Given the description of an element on the screen output the (x, y) to click on. 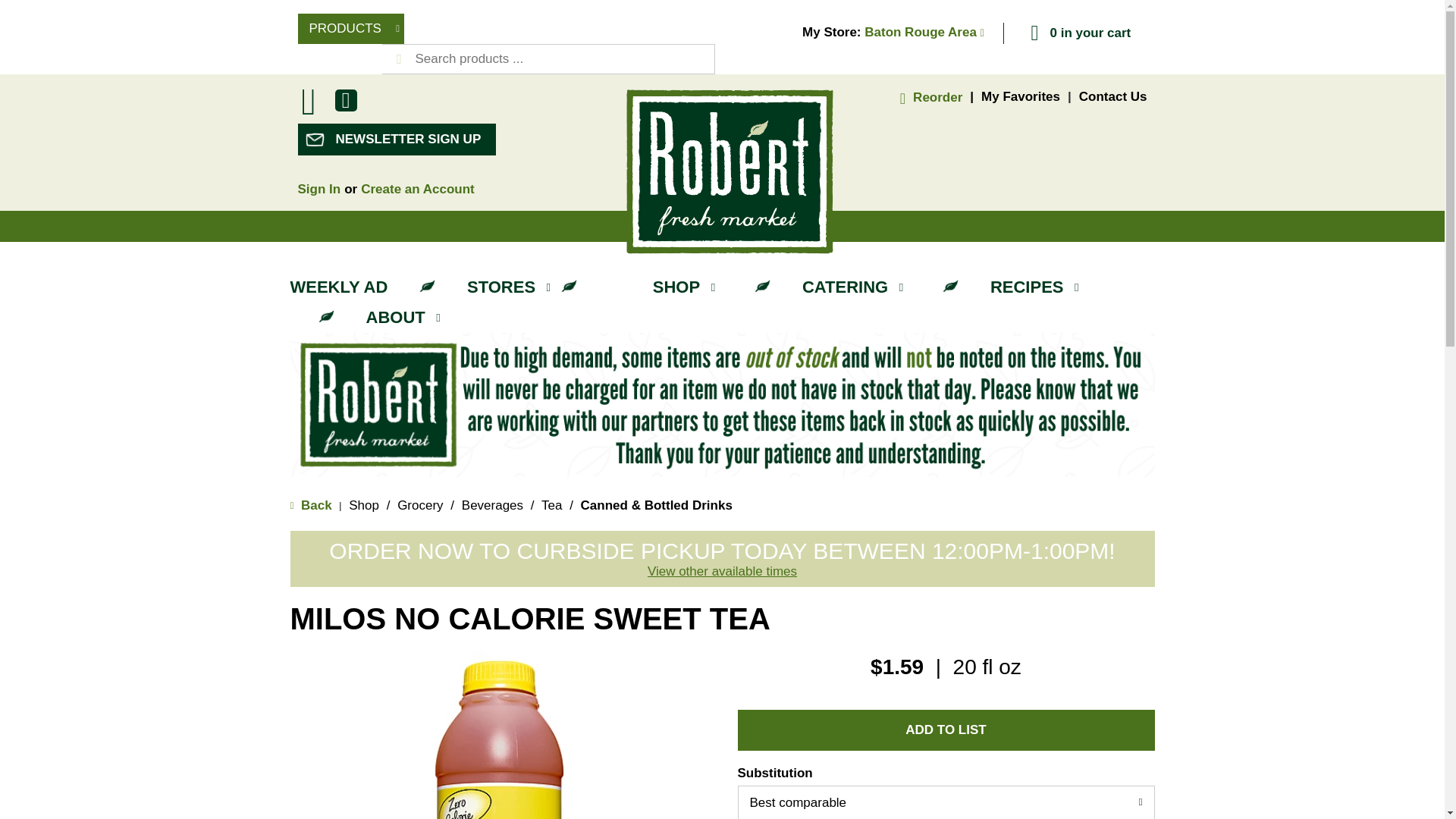
PRODUCTS (350, 28)
0 in your cart (1079, 33)
SHOP (687, 286)
Create an Account (417, 188)
Reorder (928, 97)
Baton Rouge Area  (924, 32)
Selected Store: Baton Rouge Area (924, 32)
NEWSLETTER SIGN UP (396, 139)
instagram (307, 119)
facebook (345, 103)
Sign In (318, 188)
My Favorites (1020, 96)
Reorder (928, 97)
select to view other locations (721, 571)
STORES (512, 286)
